Given the description of an element on the screen output the (x, y) to click on. 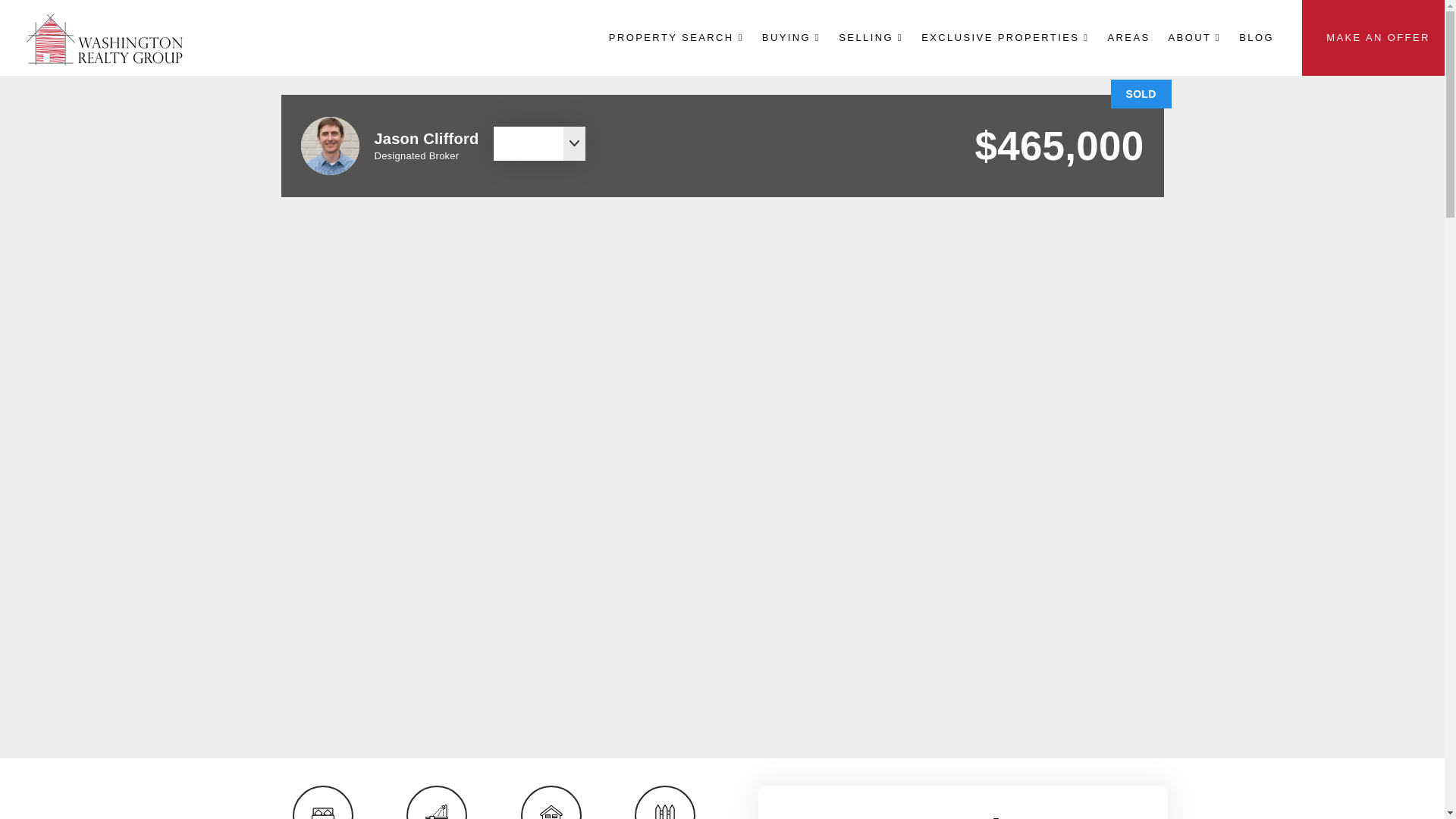
BUYING (790, 37)
SELLING (870, 37)
PROPERTY SEARCH (675, 37)
EXCLUSIVE PROPERTIES (1004, 37)
ABOUT (1194, 37)
AREAS (1127, 37)
